Given the description of an element on the screen output the (x, y) to click on. 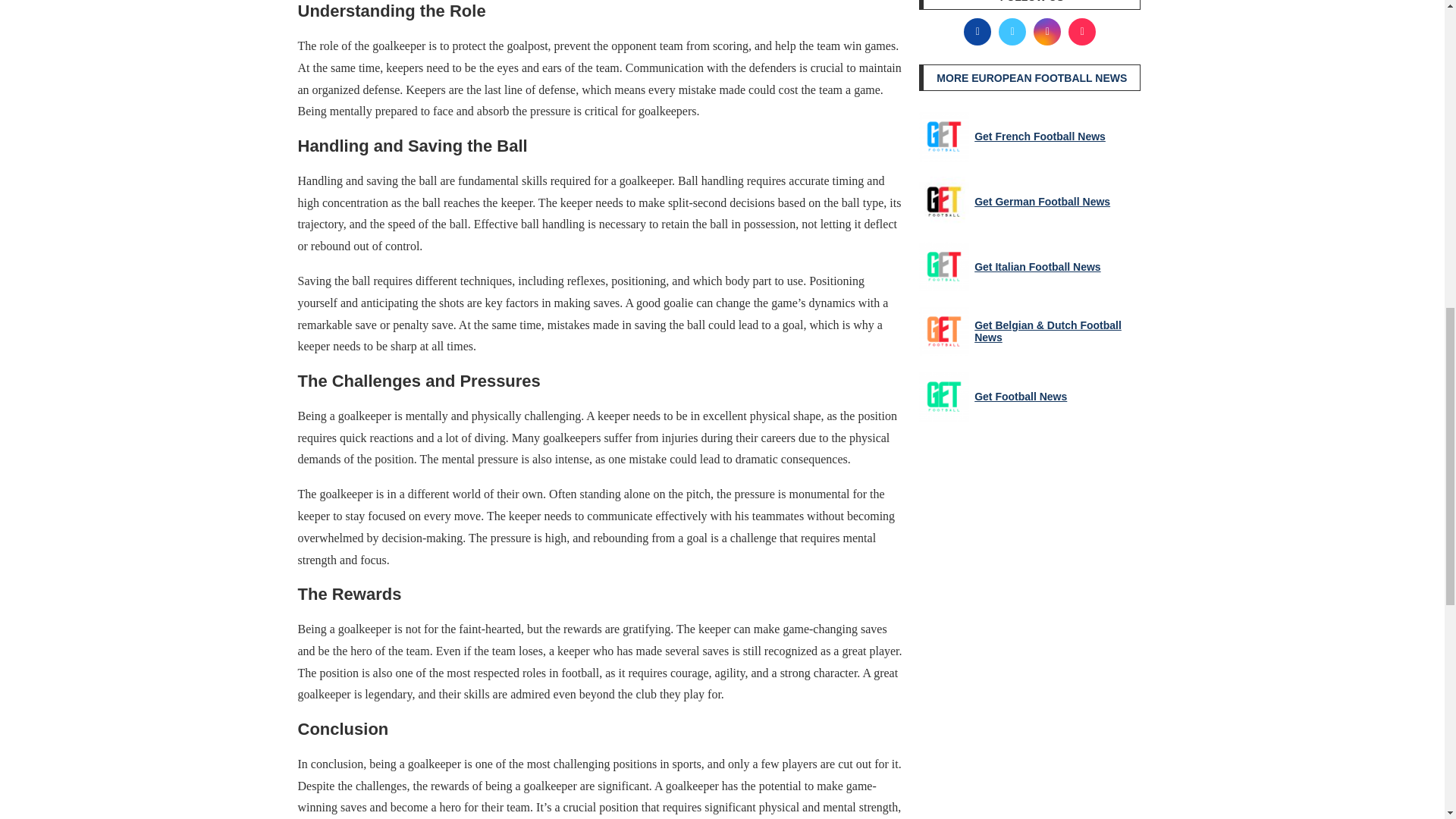
Get French Football News (943, 136)
Get German Football News (943, 201)
Get Italian Football News (943, 266)
Get Football News (943, 396)
